Given the description of an element on the screen output the (x, y) to click on. 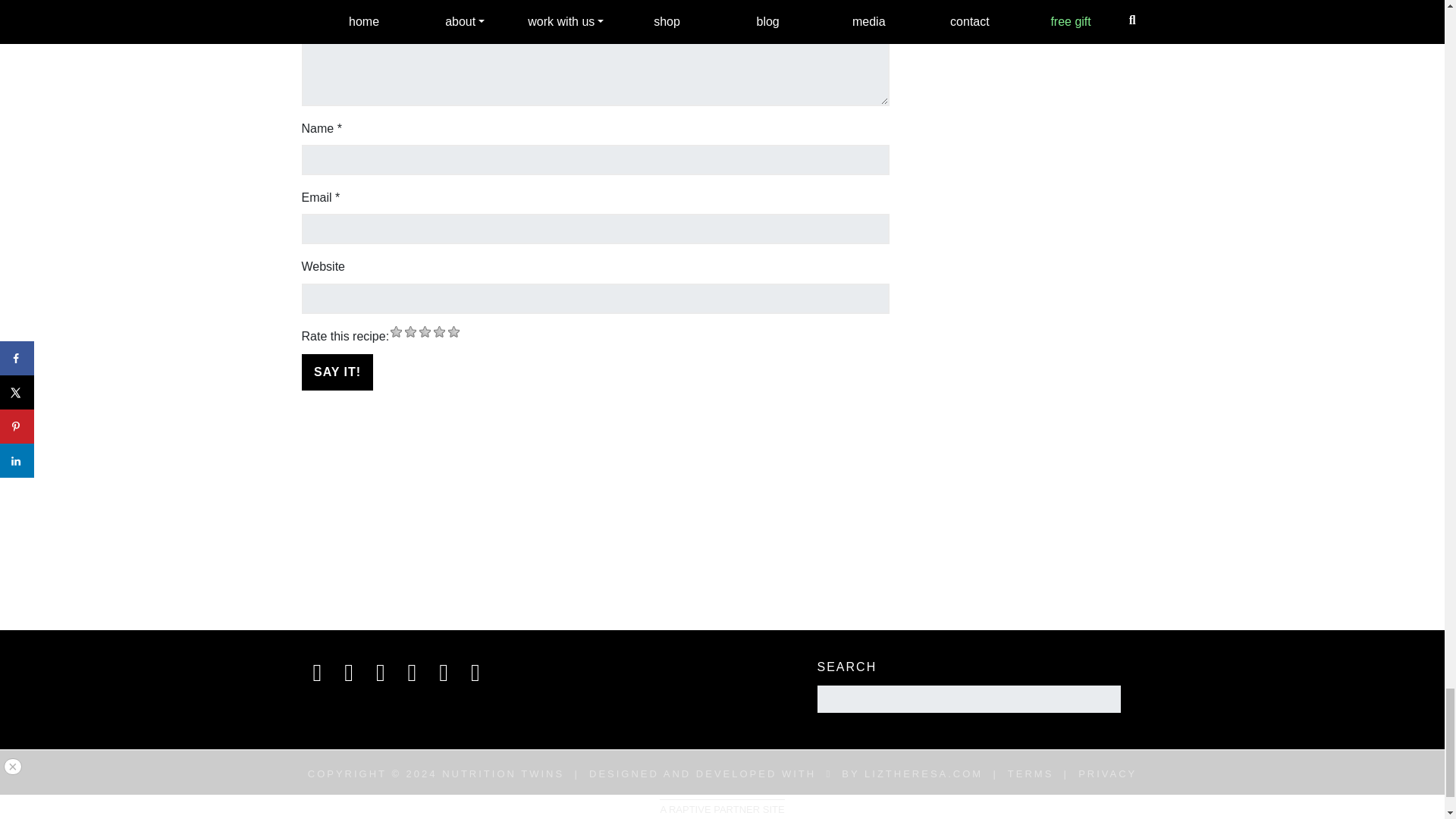
SAY IT! (336, 371)
